Given the description of an element on the screen output the (x, y) to click on. 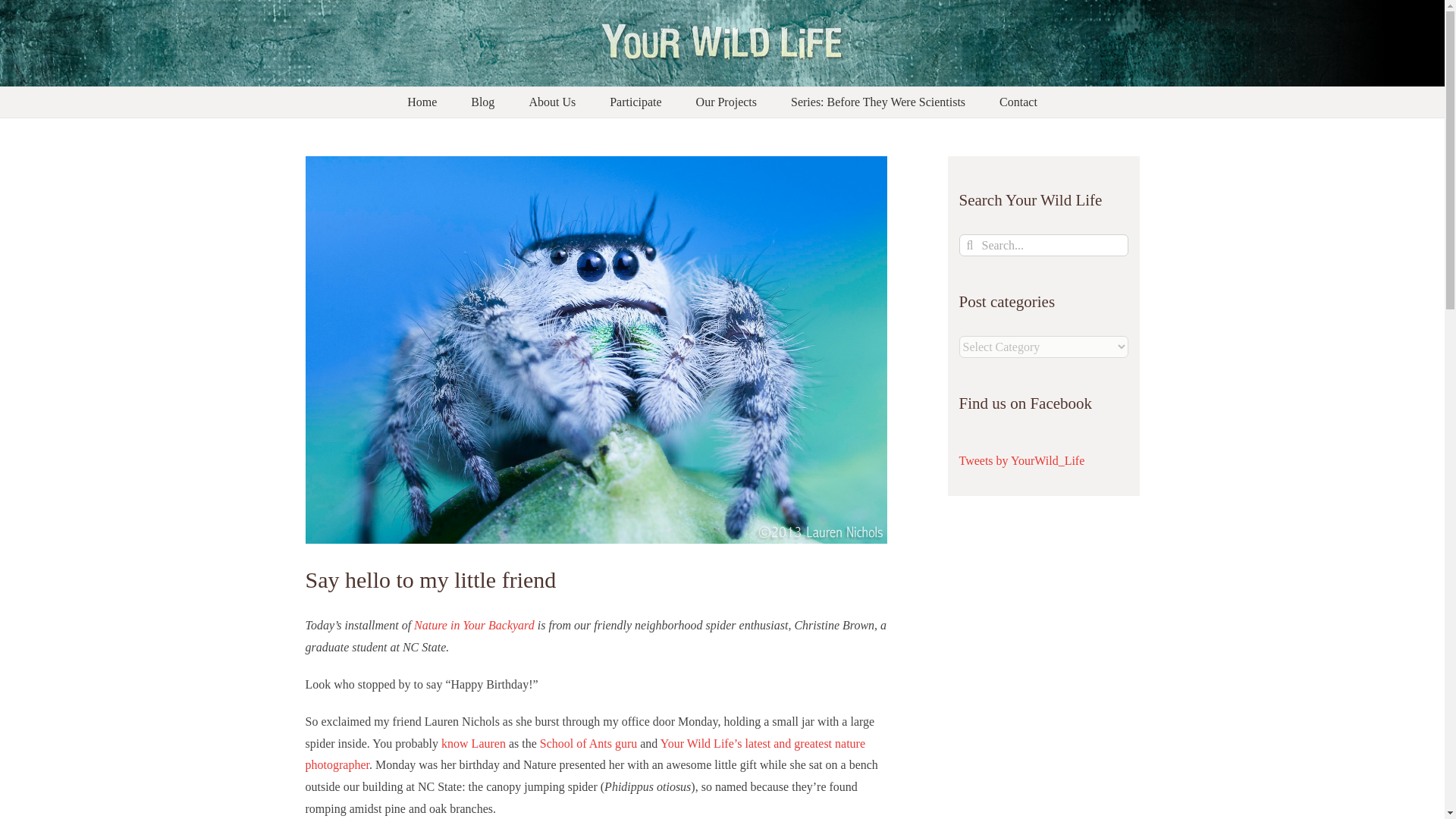
Participate (635, 101)
Series: Before They Were Scientists (877, 101)
School of Ants guru (588, 743)
Contact (1017, 101)
Our Projects (726, 101)
About Us (551, 101)
Nature in Your Backyard (473, 625)
know Lauren (473, 743)
Home (421, 101)
